Given the description of an element on the screen output the (x, y) to click on. 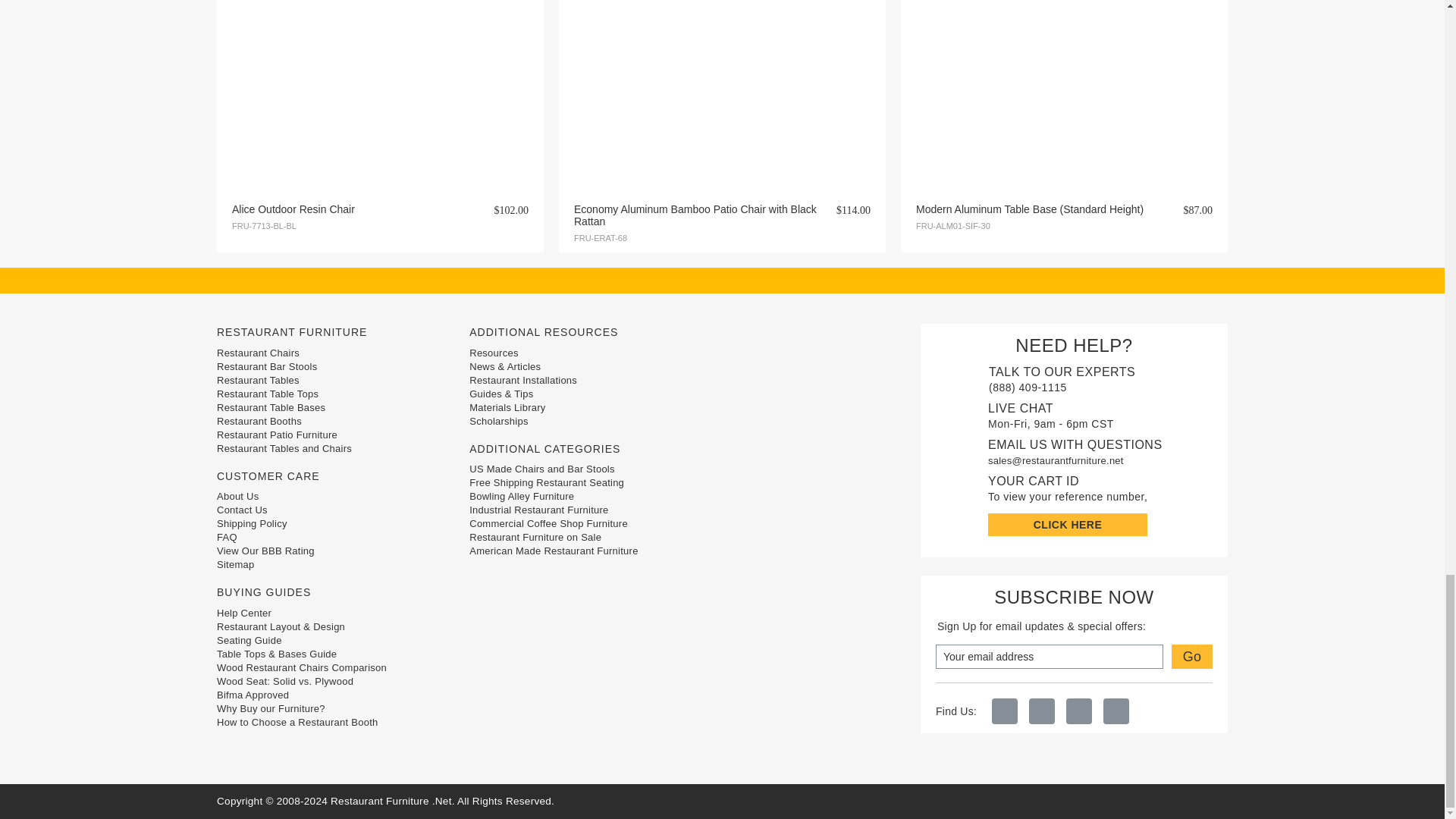
Alice Outdoor Resin Chair (379, 79)
Economy Aluminum Bamboo Patio Chair with Black Rattan (721, 79)
Your email address (1049, 656)
